Given the description of an element on the screen output the (x, y) to click on. 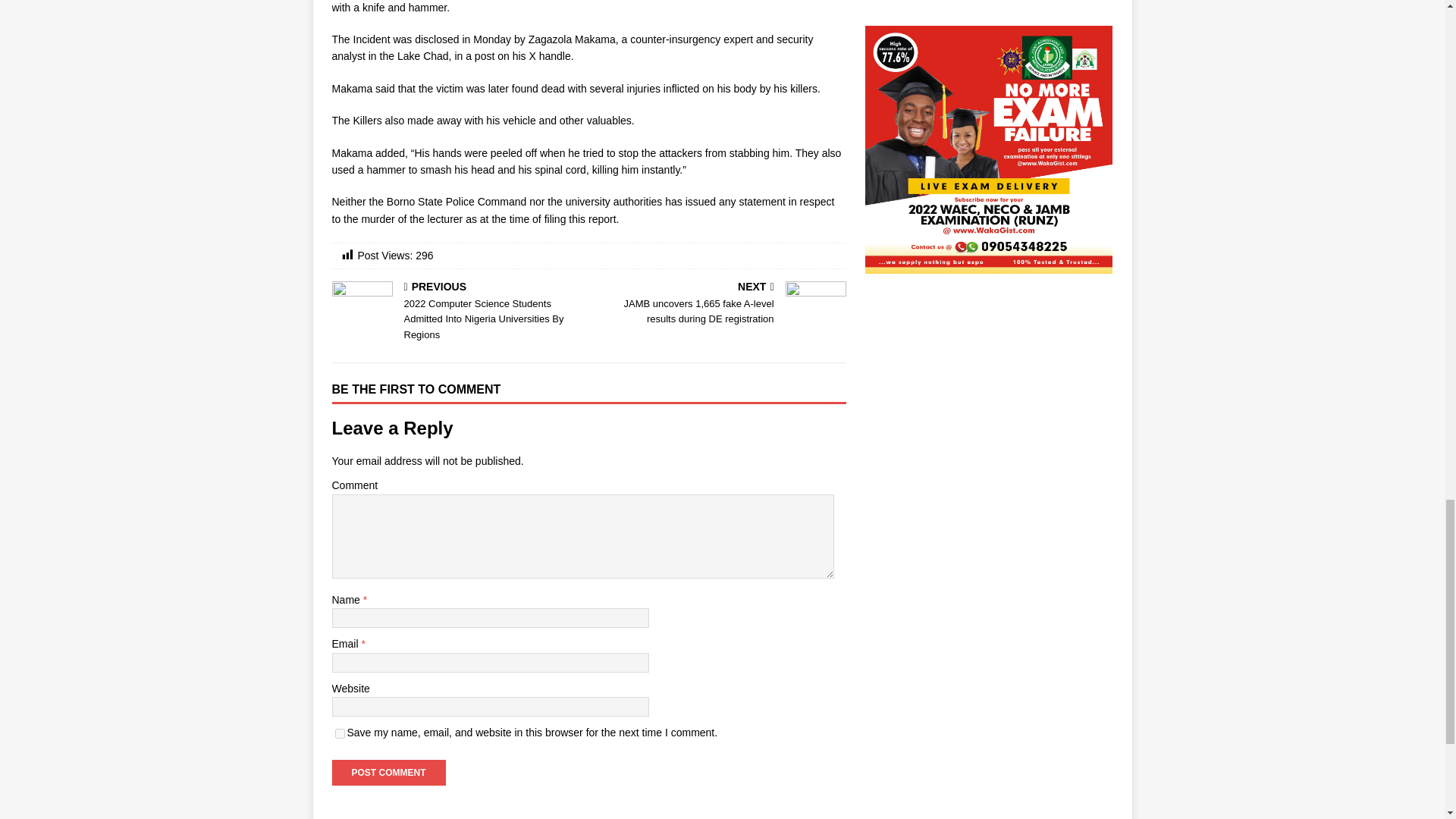
Post Comment (388, 772)
Post Comment (388, 772)
yes (339, 733)
